Given the description of an element on the screen output the (x, y) to click on. 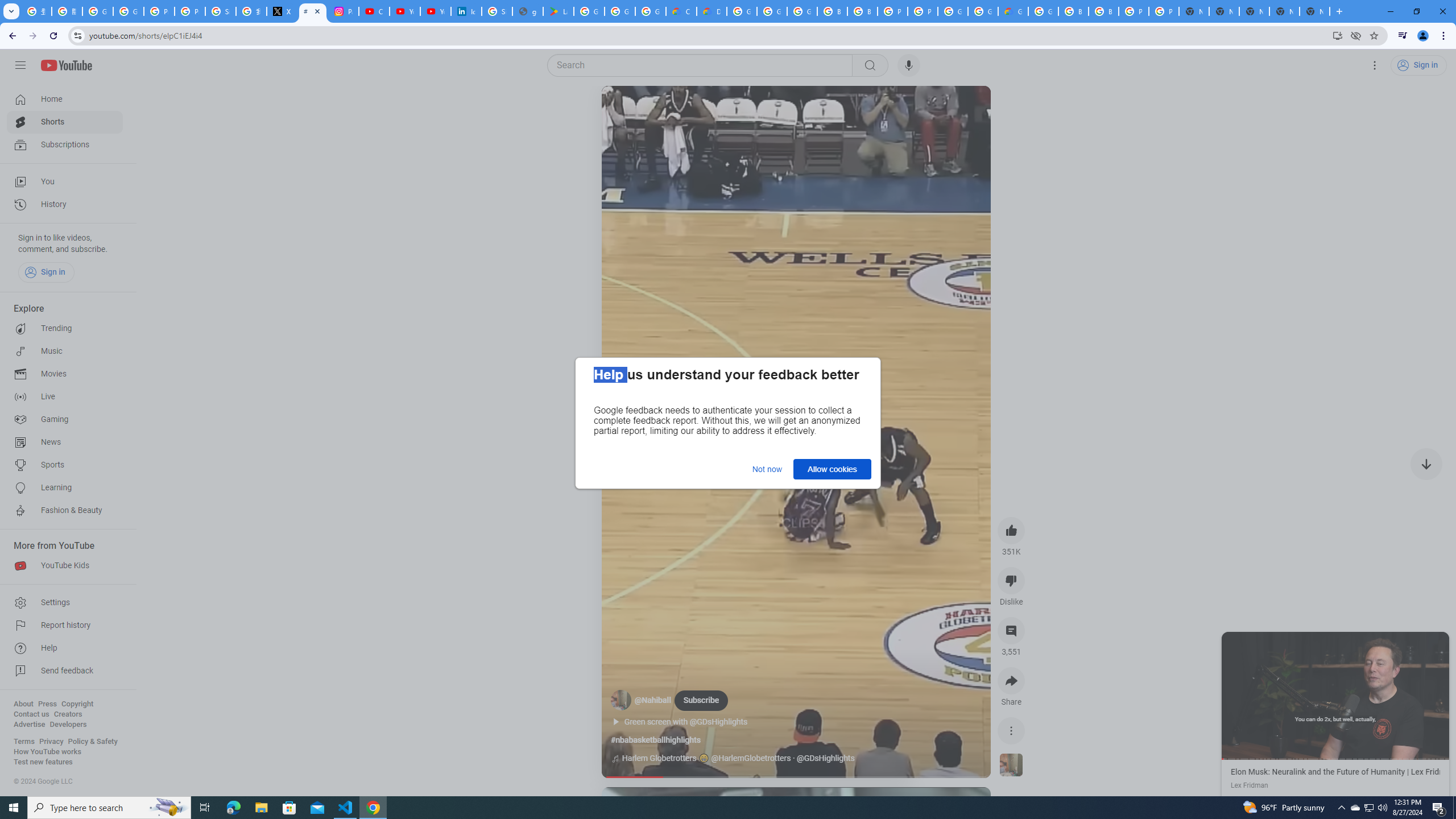
Report history (64, 625)
Search with your voice (908, 65)
View 3,551 comments (1011, 630)
Google Cloud Platform (952, 11)
Subscribe (701, 700)
Not now (766, 468)
News (64, 441)
Sign in - Google Accounts (220, 11)
